Given the description of an element on the screen output the (x, y) to click on. 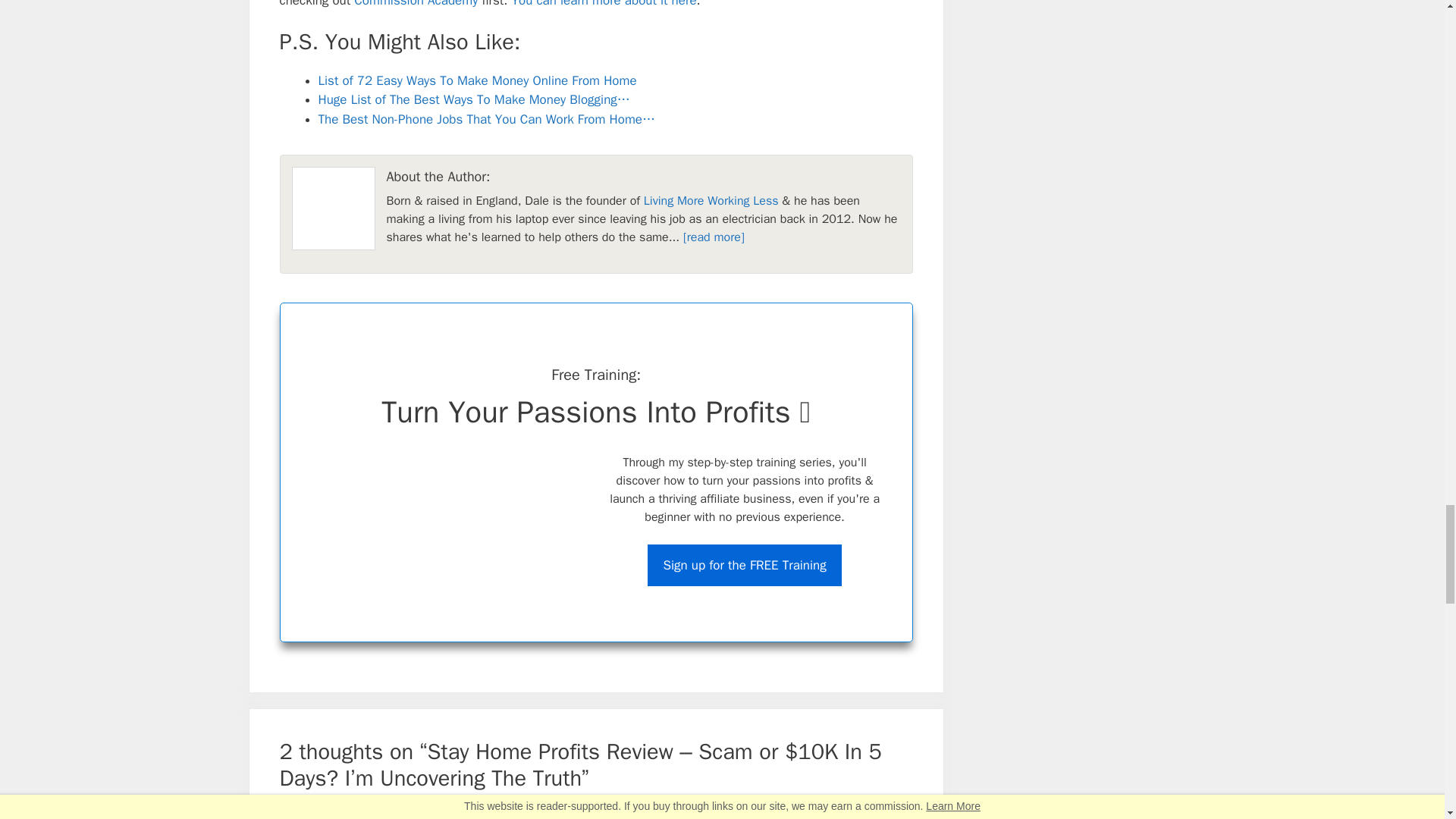
Read More (713, 237)
